Given the description of an element on the screen output the (x, y) to click on. 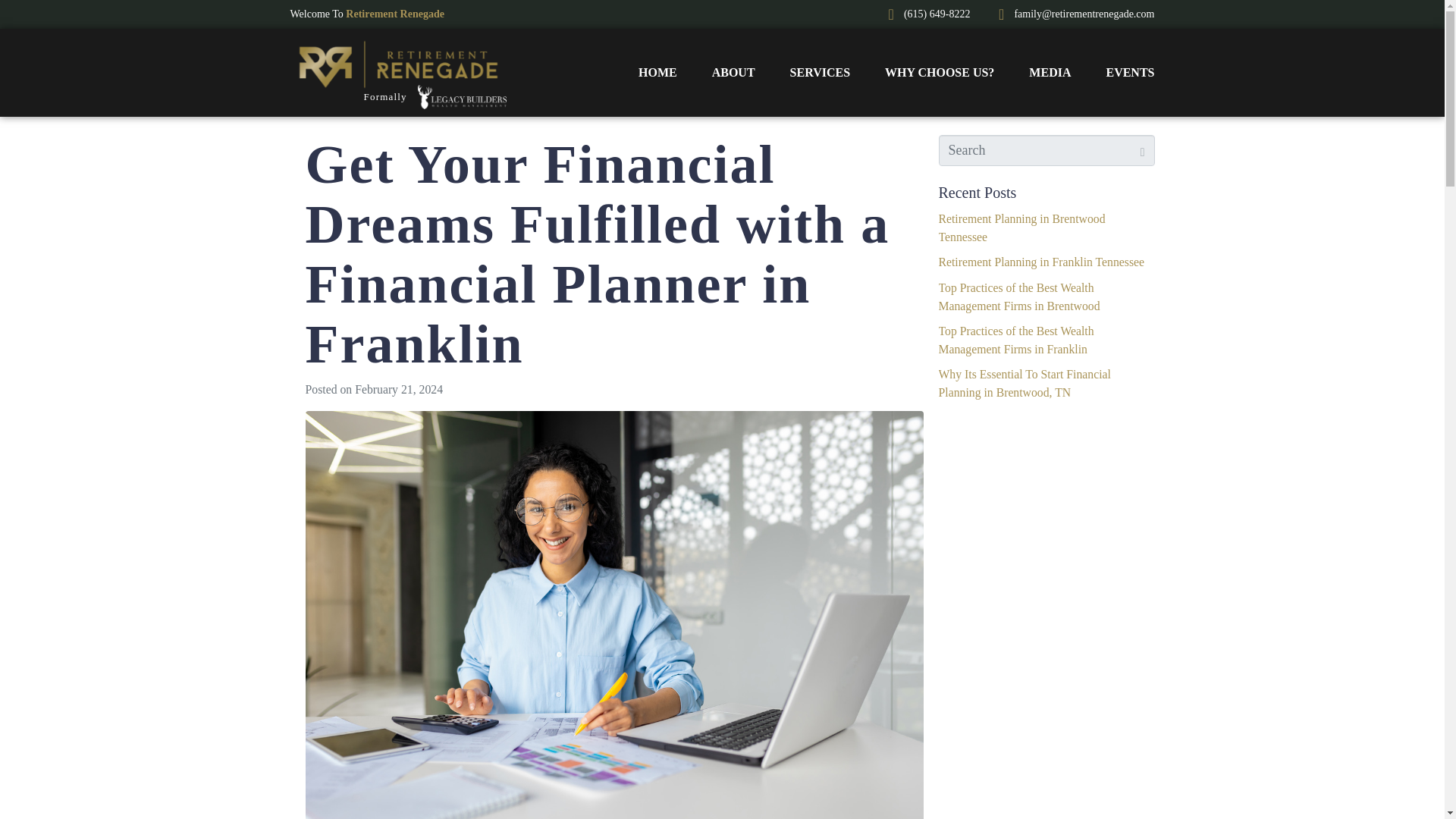
ABOUT (733, 72)
WHY CHOOSE US? (939, 72)
Retirement Planning in Brentwood Tennessee (1022, 227)
SERVICES (820, 72)
HOME (658, 72)
EVENTS (1129, 72)
MEDIA (1049, 72)
